Given the description of an element on the screen output the (x, y) to click on. 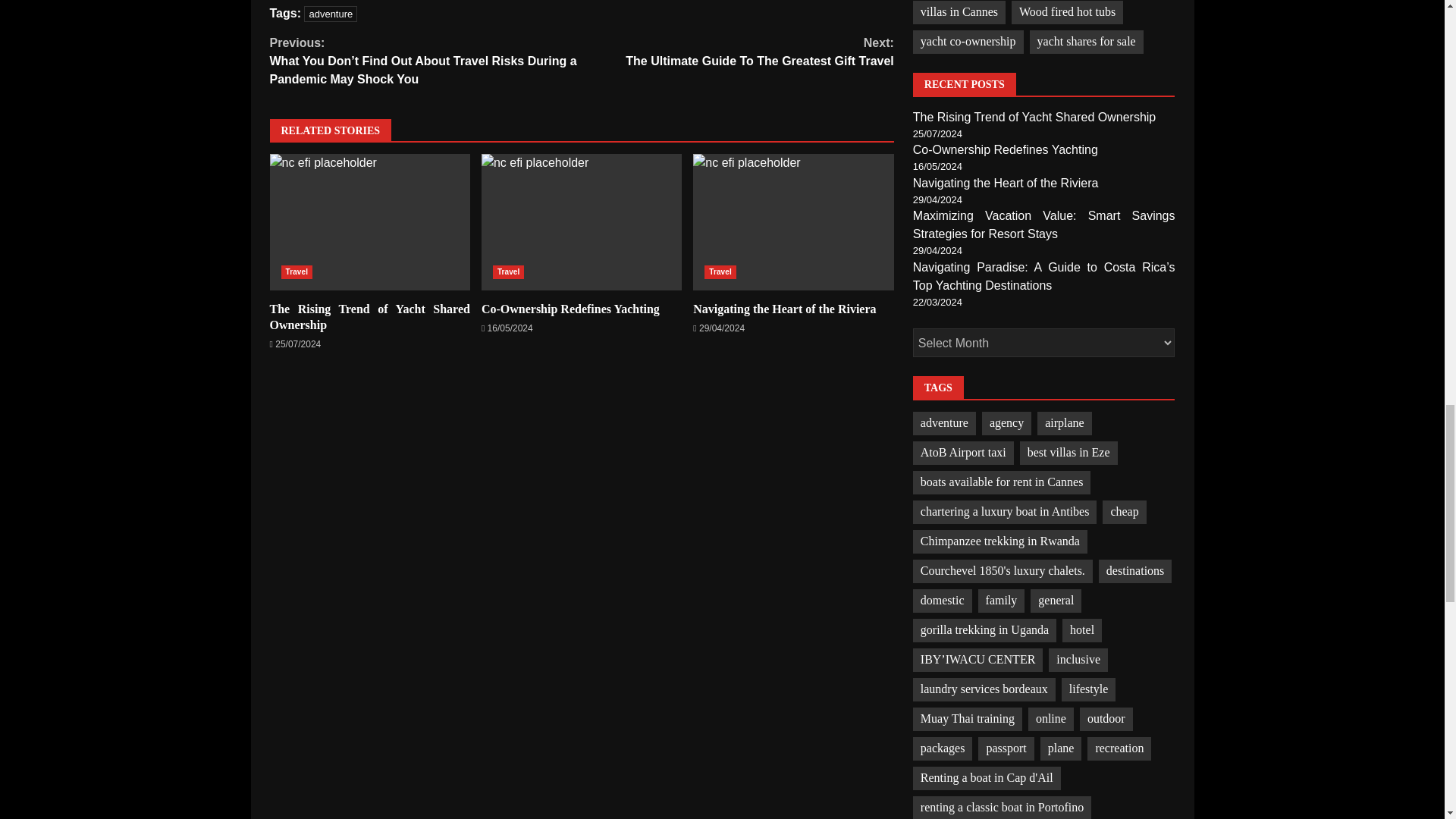
Co-Ownership Redefines Yachting (581, 221)
Navigating the Heart of the Riviera (793, 221)
Co-Ownership Redefines Yachting (570, 308)
Co-Ownership Redefines Yachting (581, 221)
The Rising Trend of Yacht Shared Ownership (369, 316)
Travel (720, 272)
Travel (297, 272)
Navigating the Heart of the Riviera (784, 308)
Travel (508, 272)
Navigating the Heart of the Riviera (736, 52)
The Rising Trend of Yacht Shared Ownership (793, 221)
adventure (369, 221)
The Rising Trend of Yacht Shared Ownership (330, 13)
